Given the description of an element on the screen output the (x, y) to click on. 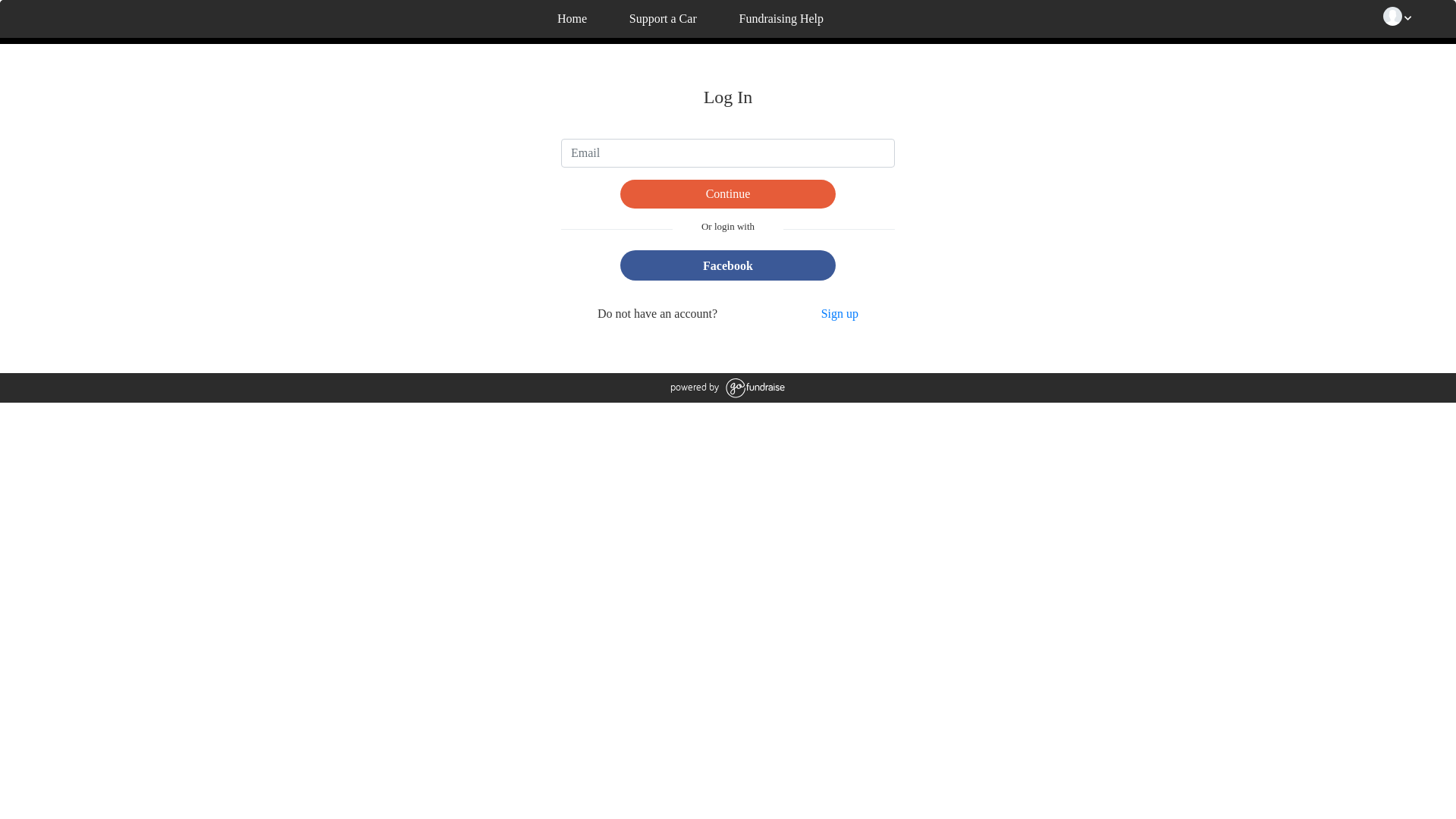
Fundraising Help Element type: text (779, 19)
Continue Element type: text (727, 193)
Facebook Element type: text (727, 264)
Sign up Element type: text (839, 313)
Home Element type: text (570, 19)
Support a Car Element type: text (660, 19)
